Given the description of an element on the screen output the (x, y) to click on. 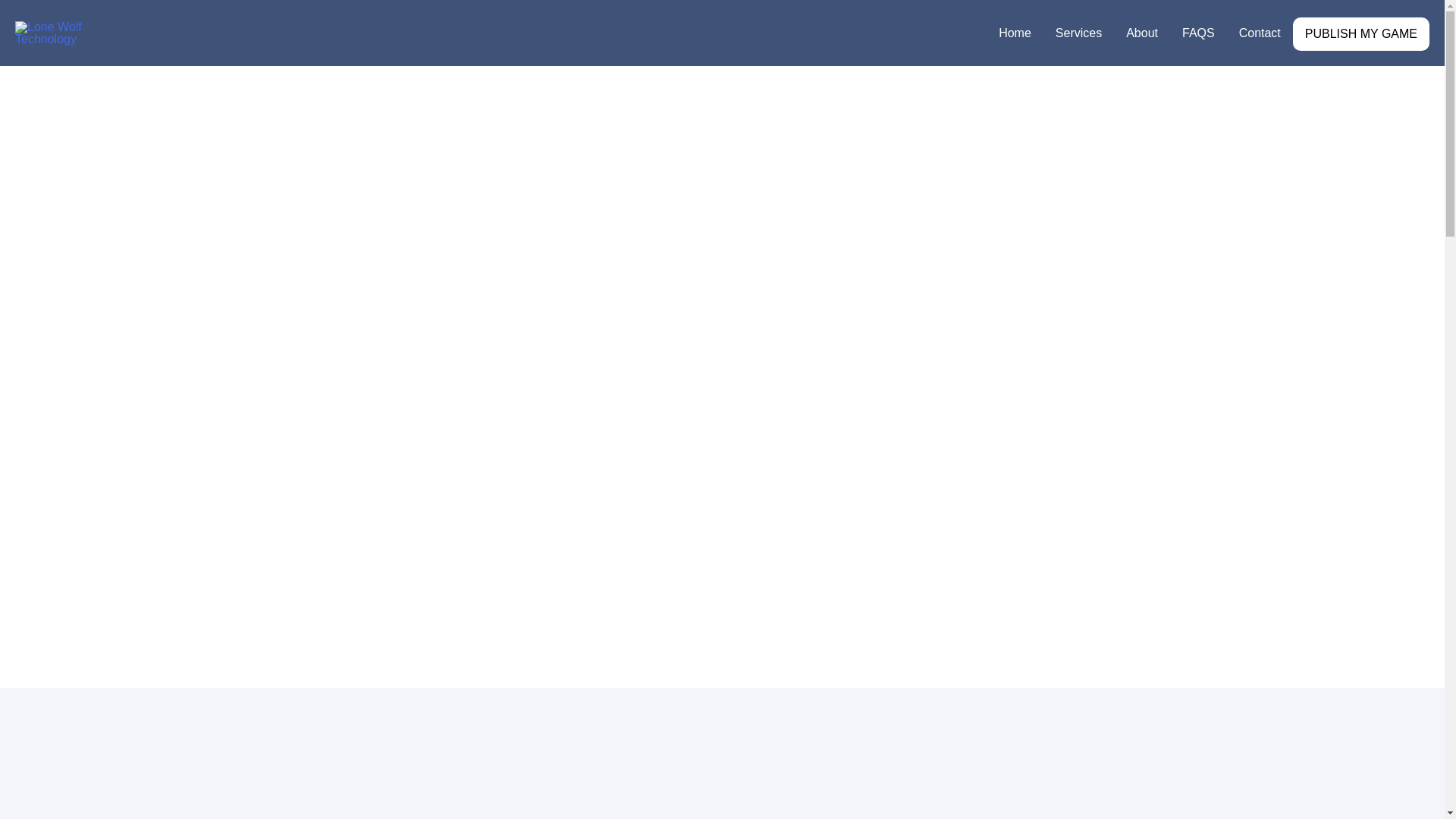
Contact (1259, 33)
Services (1078, 33)
PUBLISH MY GAME (1360, 33)
